Given the description of an element on the screen output the (x, y) to click on. 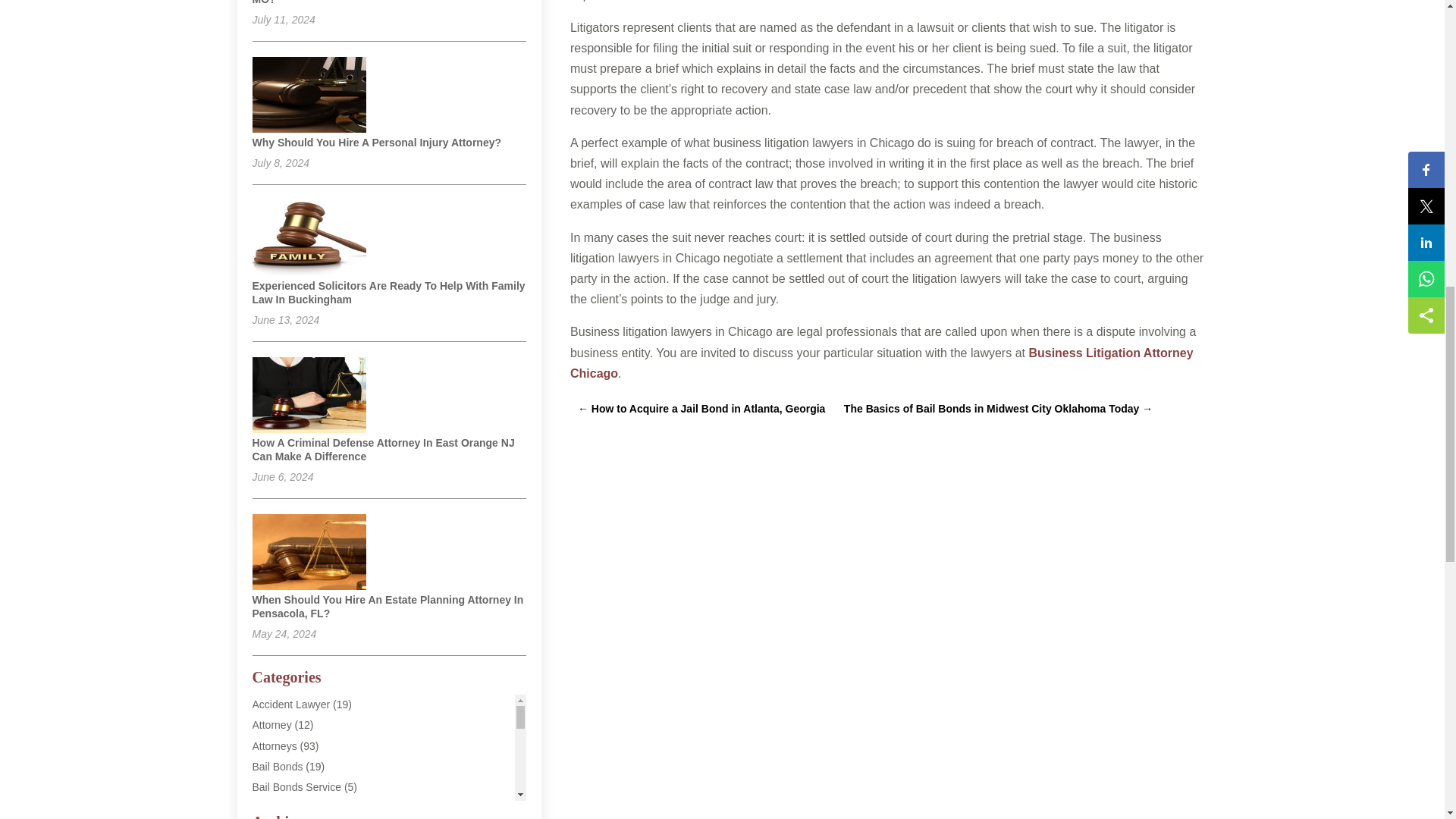
Accident Lawyer (290, 704)
Why Should You Hire A Personal Injury Attorney? (375, 142)
Bail Bonds Service (295, 787)
Do You Need A DWI Defense Lawyer In Independence, MO? (387, 2)
Attorneys (274, 746)
Attorney (271, 725)
Bail Bonds (276, 766)
Bankruptcy (277, 807)
